Given the description of an element on the screen output the (x, y) to click on. 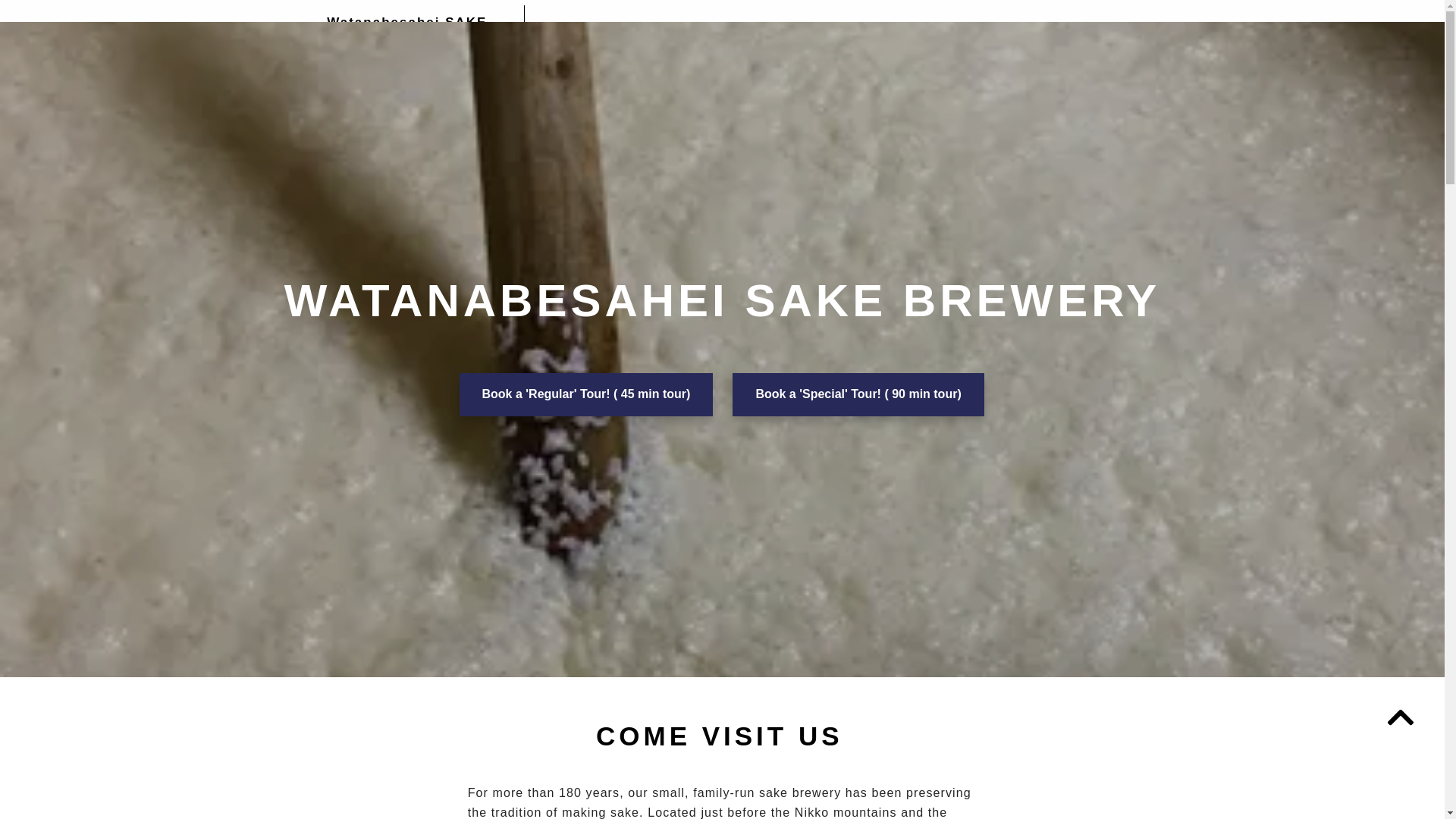
Watanabesahei SAKE BREWERY (406, 32)
CONTACT US (1050, 28)
NEARBY ATTRACTIONS (921, 28)
SHOP (817, 28)
BREWERY LAYOUT (727, 28)
ABOUT US (622, 28)
